Given the description of an element on the screen output the (x, y) to click on. 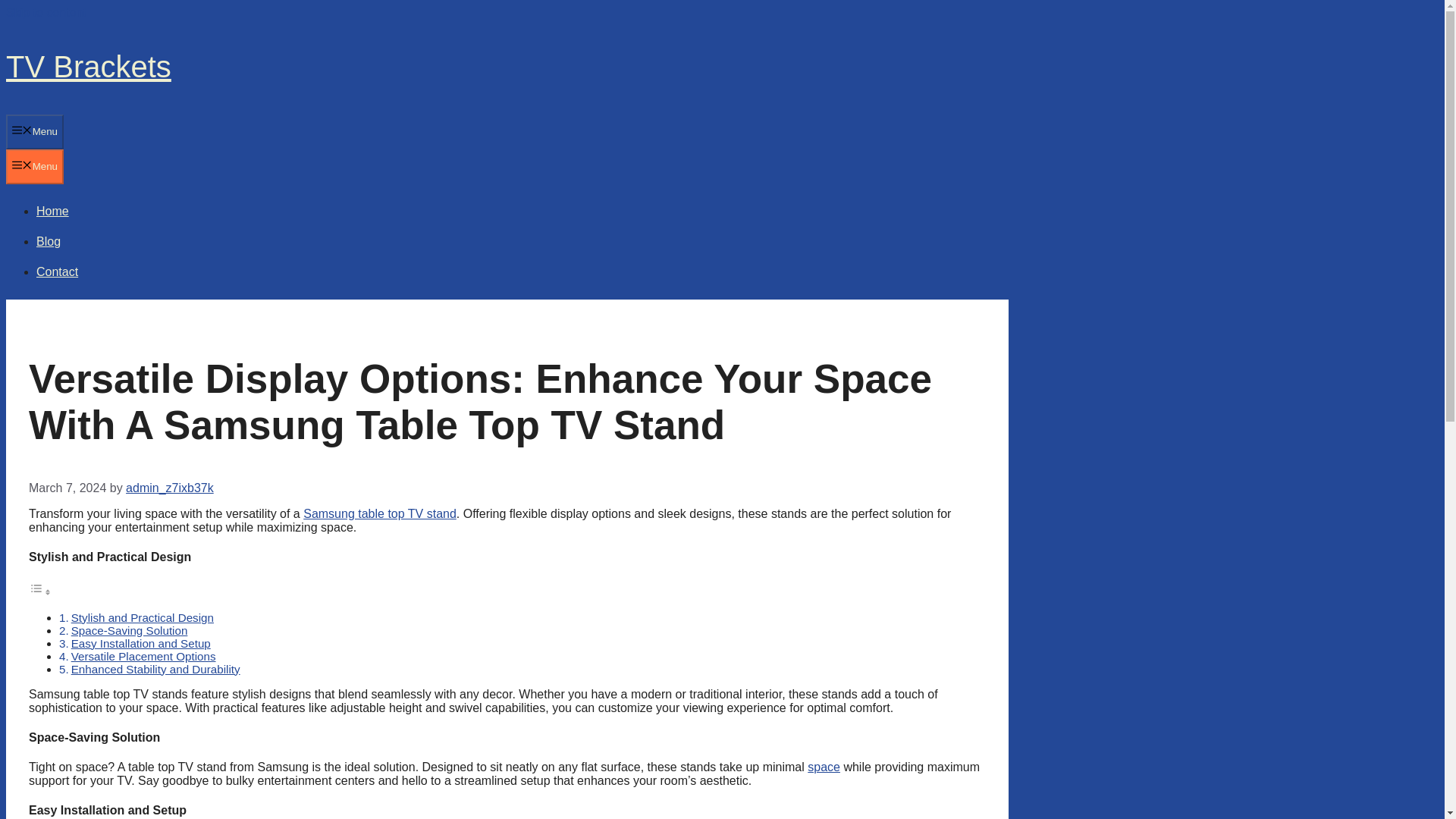
Easy Installation and Setup (141, 643)
Blog (48, 241)
space (824, 766)
Stylish and Practical Design (142, 617)
Versatile Placement Options (143, 655)
Space-Saving Solution (129, 629)
Versatile Placement Options (143, 655)
Enhanced Stability and Durability (155, 668)
Stylish and Practical Design (142, 617)
Menu (34, 166)
